Given the description of an element on the screen output the (x, y) to click on. 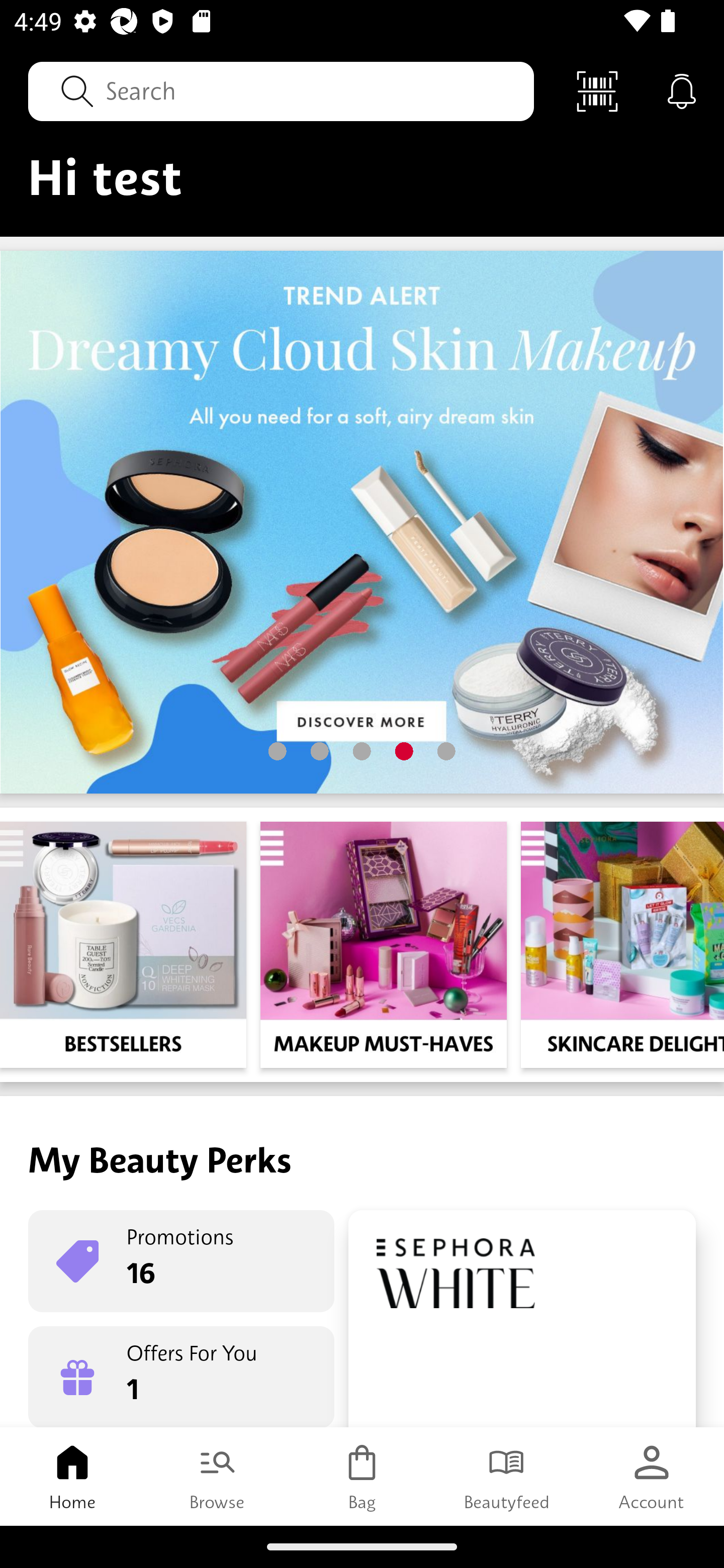
Scan Code (597, 90)
Notifications (681, 90)
Search (281, 90)
Promotions 16 (181, 1261)
Rewards Boutique 90 Pts (521, 1318)
Offers For You 1 (181, 1376)
Browse (216, 1475)
Bag (361, 1475)
Beautyfeed (506, 1475)
Account (651, 1475)
